Given the description of an element on the screen output the (x, y) to click on. 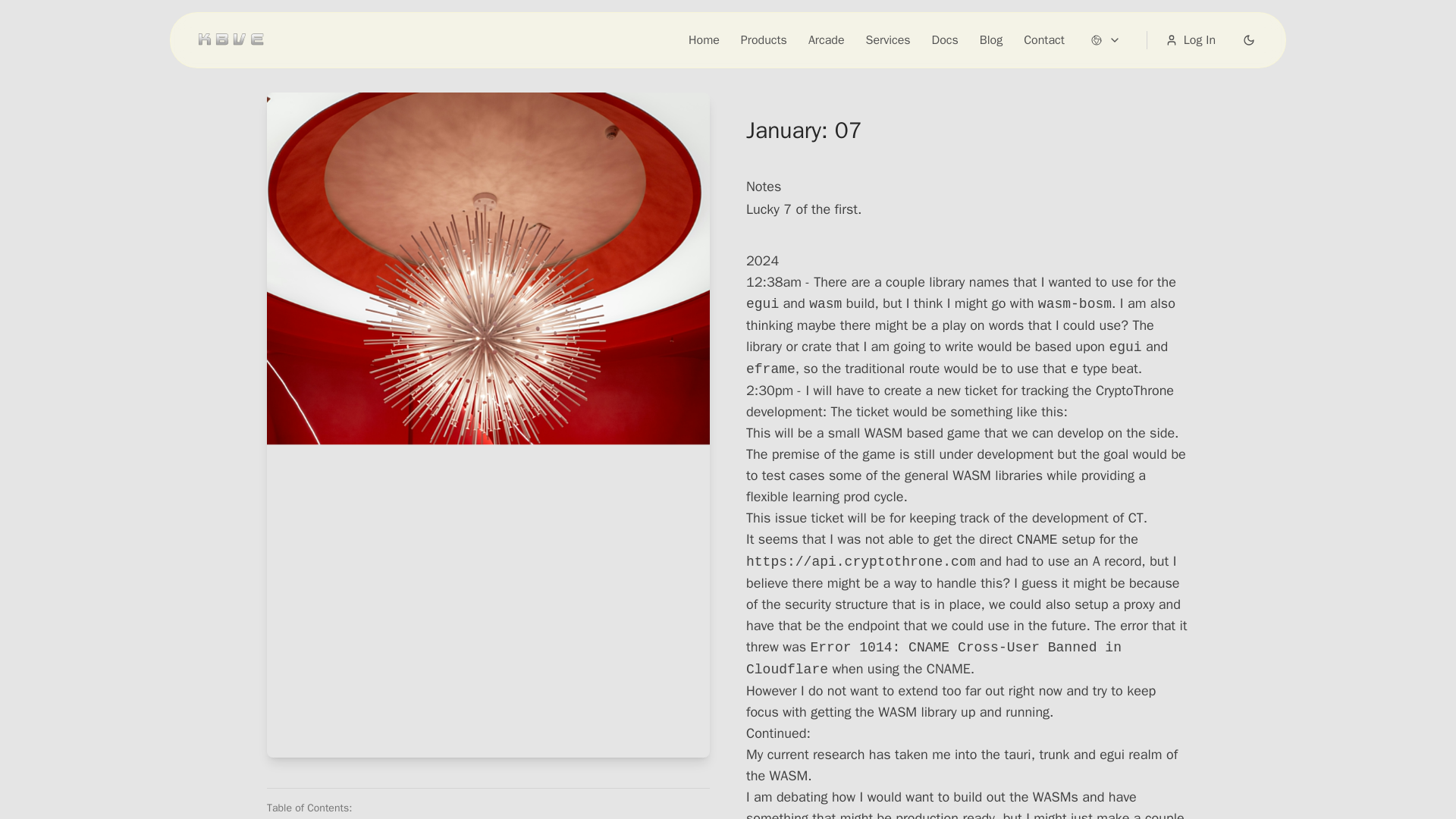
Services (888, 40)
Arcade (826, 40)
Products (764, 40)
Contact (1043, 40)
Log In (1181, 40)
